Given the description of an element on the screen output the (x, y) to click on. 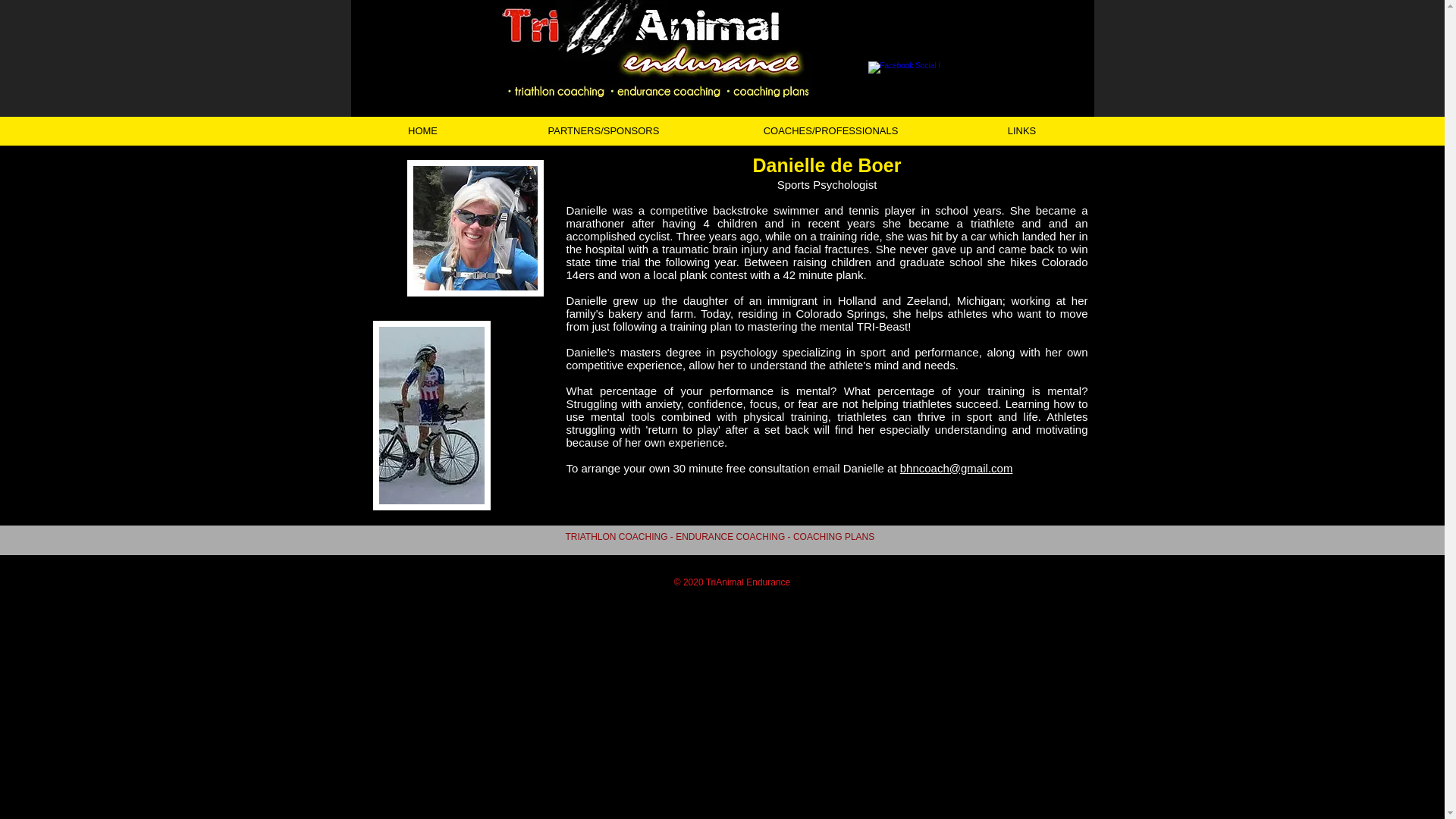
tribanner2.jpg (648, 49)
LINKS (1021, 131)
HOME (422, 131)
